Given the description of an element on the screen output the (x, y) to click on. 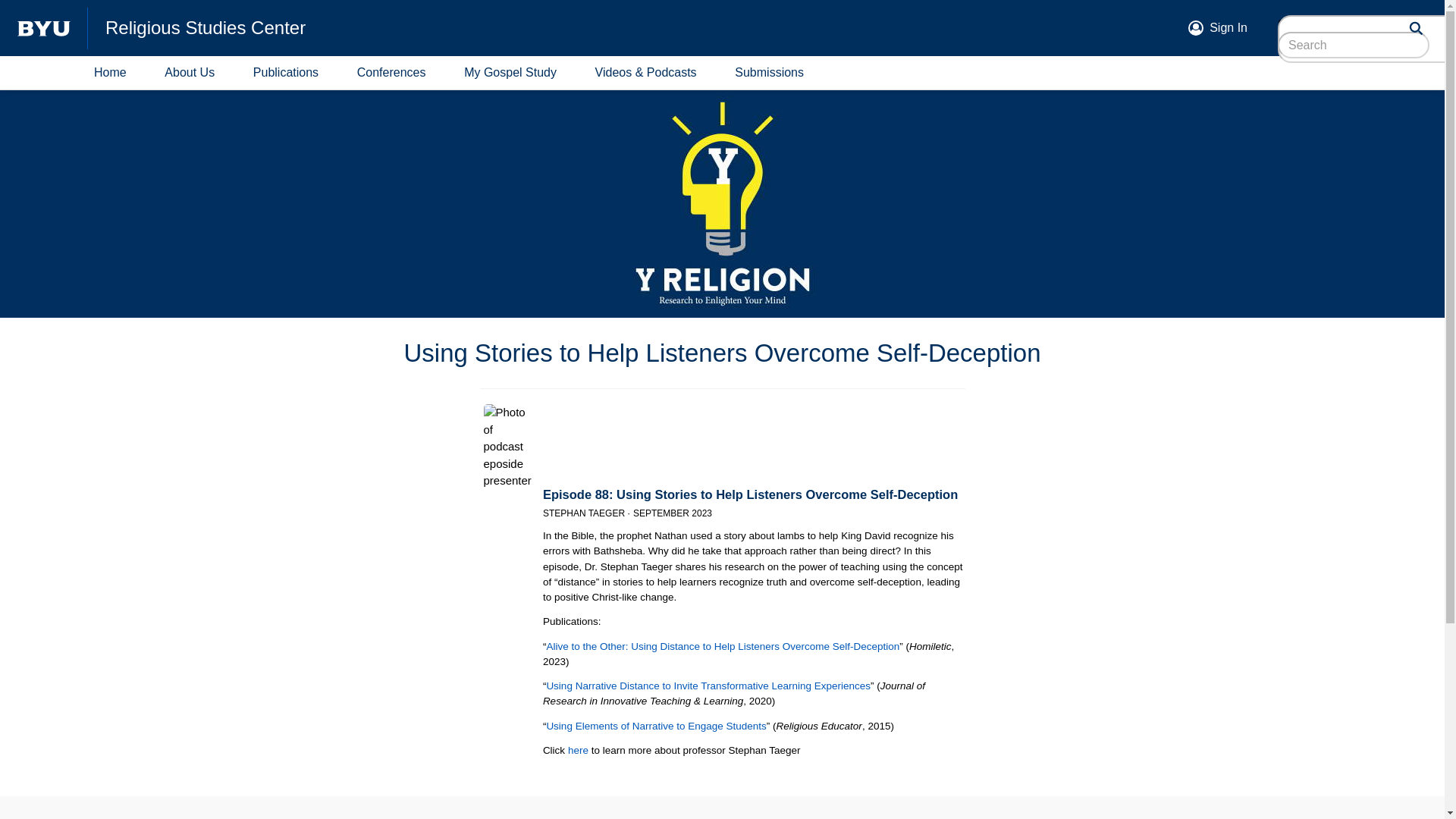
Publications (285, 72)
Using Elements of Narrative to Engage Students (655, 726)
Submissions (768, 72)
Religious Studies Center (633, 27)
Enter the terms you wish to search for. (1353, 44)
Home (109, 72)
My Gospel Study (510, 72)
Sign In (1228, 27)
Conferences (391, 72)
here (577, 749)
About Us (189, 72)
